Given the description of an element on the screen output the (x, y) to click on. 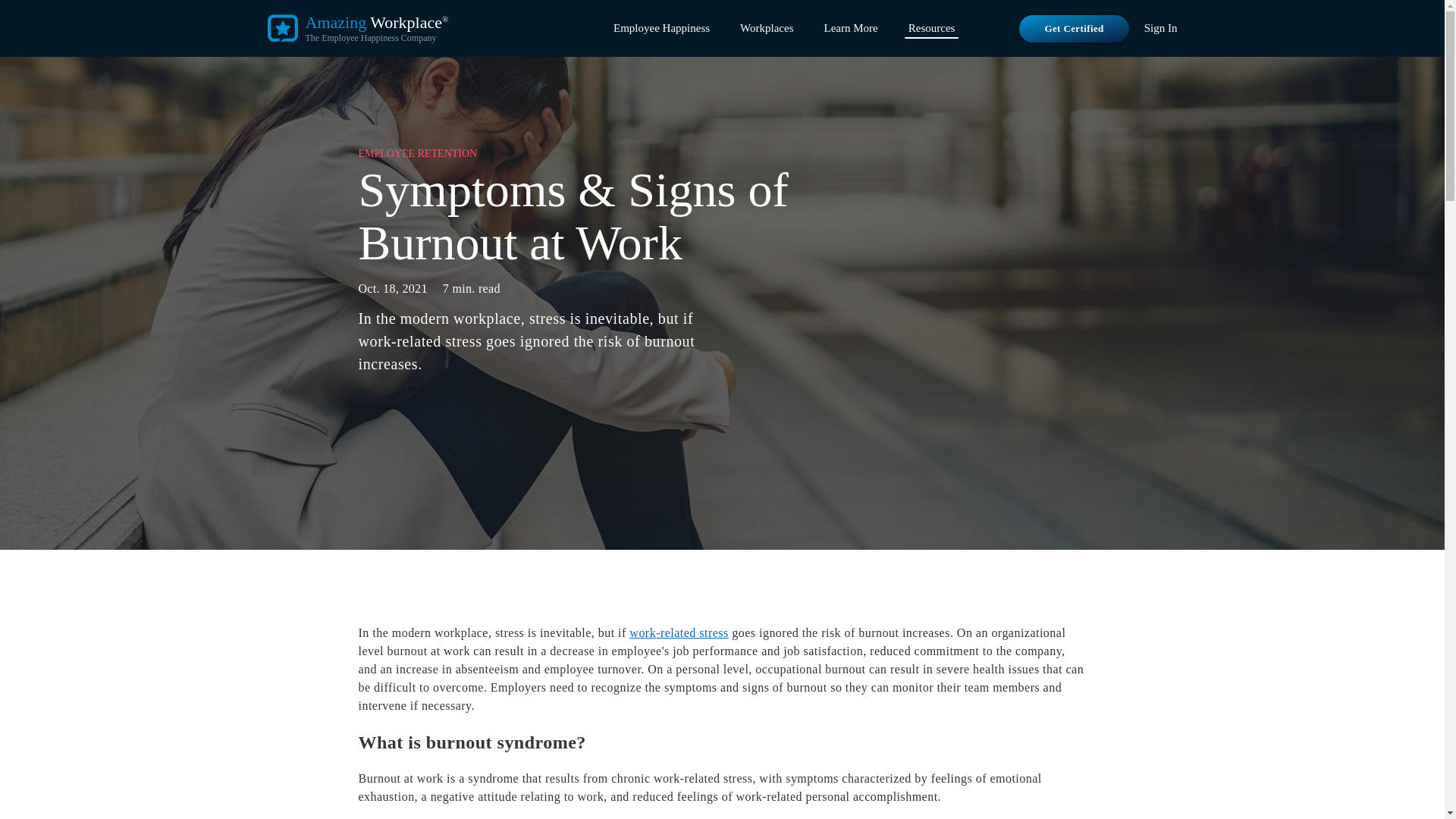
Learn More (851, 28)
Employee Happiness (661, 28)
work-related stress (678, 632)
Sign In (1160, 28)
Get Certified (1073, 28)
Resources (931, 28)
Workplaces (766, 28)
